Given the description of an element on the screen output the (x, y) to click on. 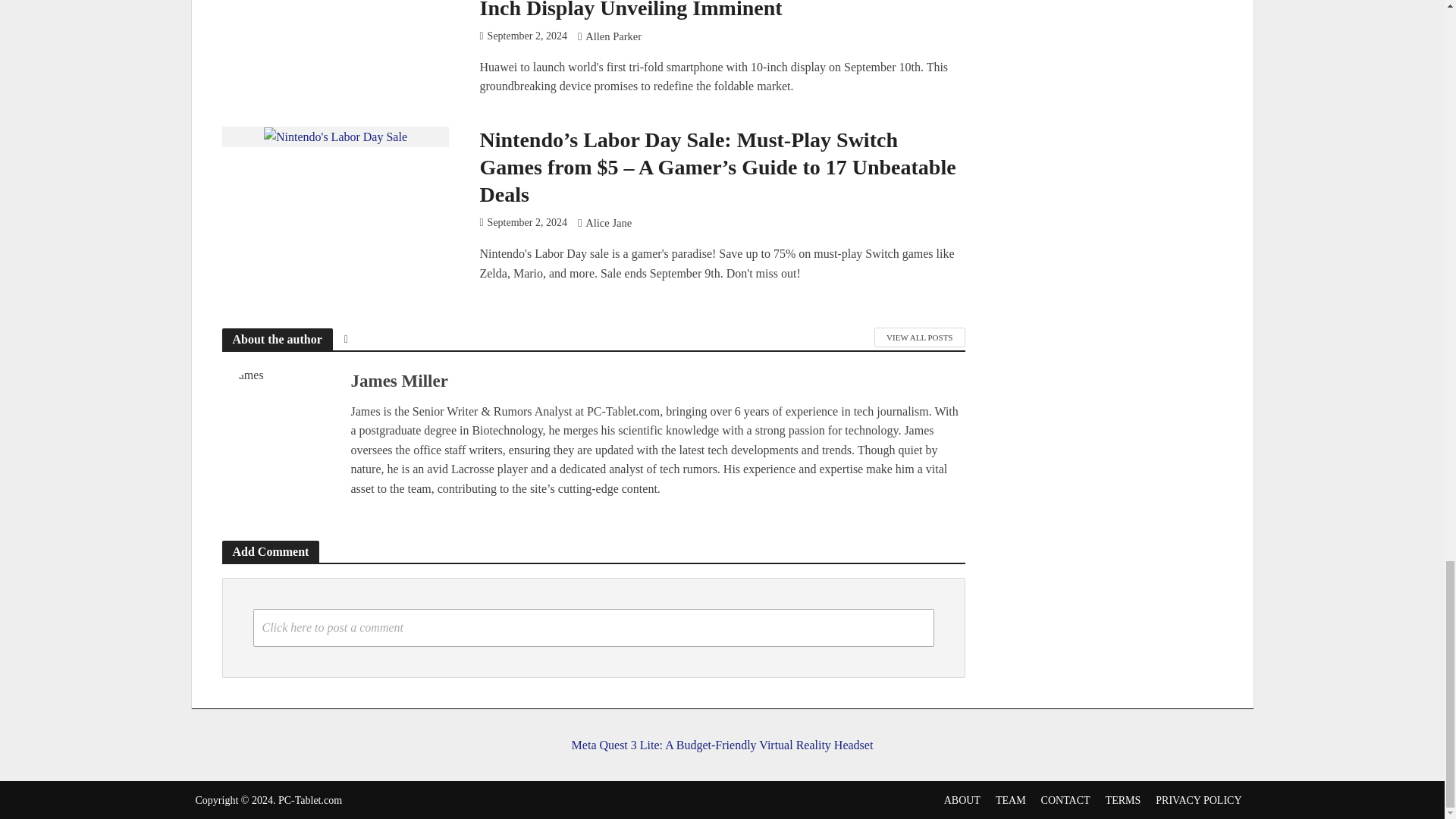
Allen Parker (613, 37)
Alice Jane (608, 224)
Meta Quest 3 Lite: A Budget-Friendly Virtual Reality Headset (721, 731)
